Given the description of an element on the screen output the (x, y) to click on. 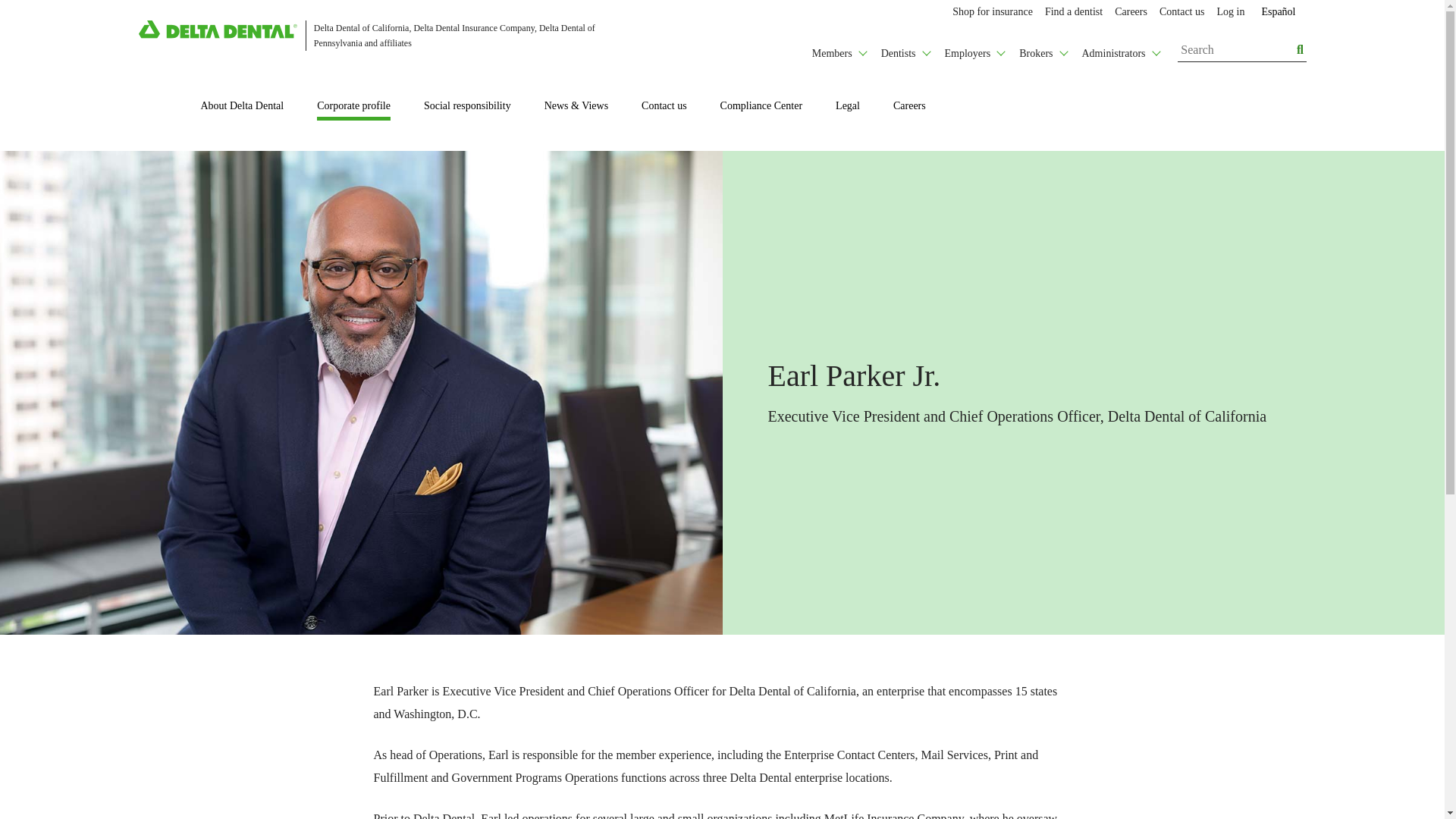
Members (838, 49)
Contact us (1182, 11)
Log in (1229, 11)
Dentists (905, 49)
Employers (974, 49)
Careers (1130, 11)
Shop for insurance (992, 11)
Find a dentist (1073, 11)
